Given the description of an element on the screen output the (x, y) to click on. 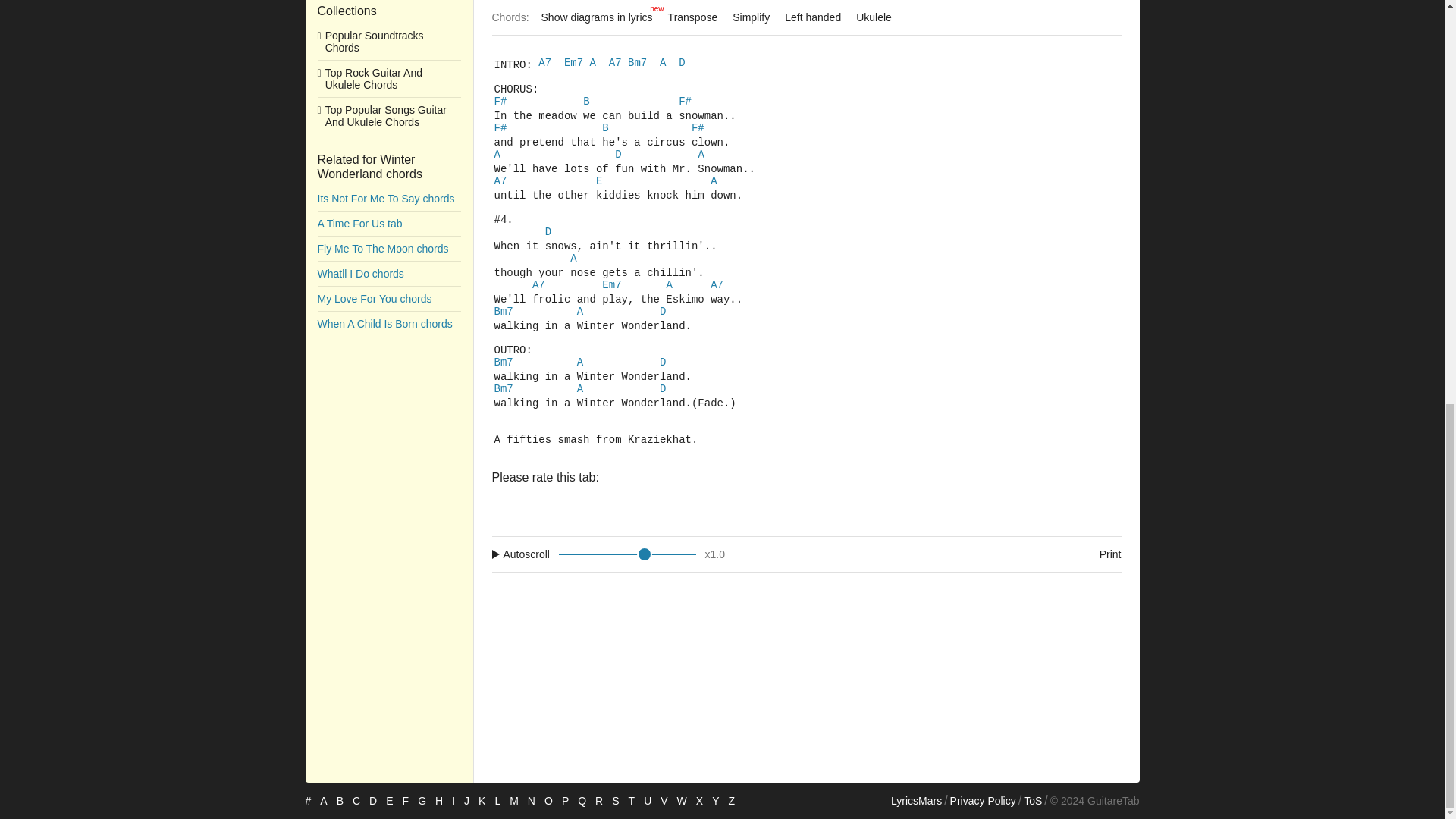
Whatll I Do chords (388, 121)
Autoscroll (524, 11)
x1.0 (806, 11)
Fly Me To The Moon chords (641, 5)
Its Not For Me To Say chords (388, 96)
Print (388, 46)
When A Child Is Born chords (1094, 11)
1.0 (388, 170)
x1.0 (716, 5)
A Time For Us tab (714, 5)
My Love For You chords (388, 71)
Autoscroll (388, 146)
